Given the description of an element on the screen output the (x, y) to click on. 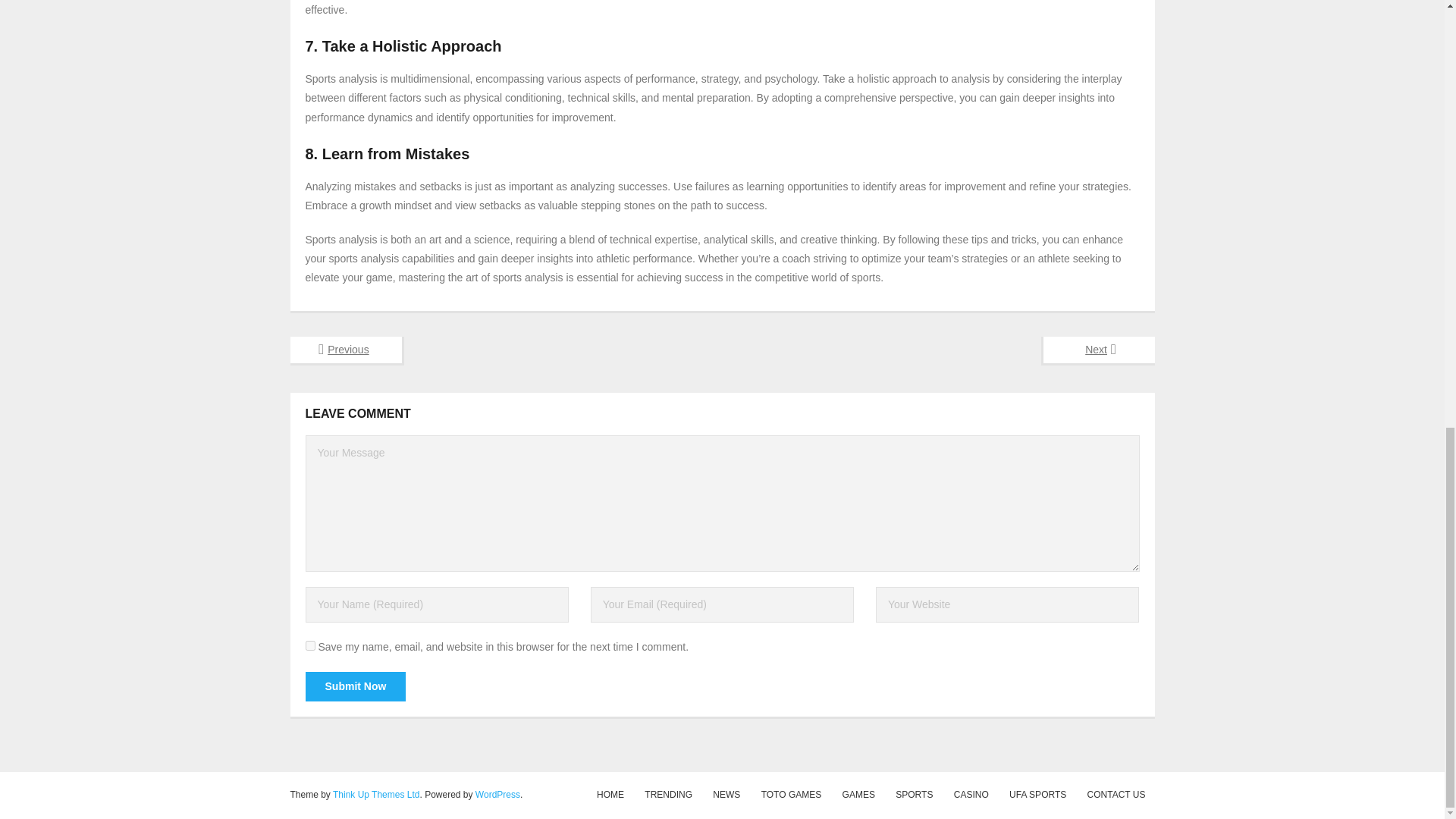
yes (309, 645)
Submit Now (355, 686)
